Given the description of an element on the screen output the (x, y) to click on. 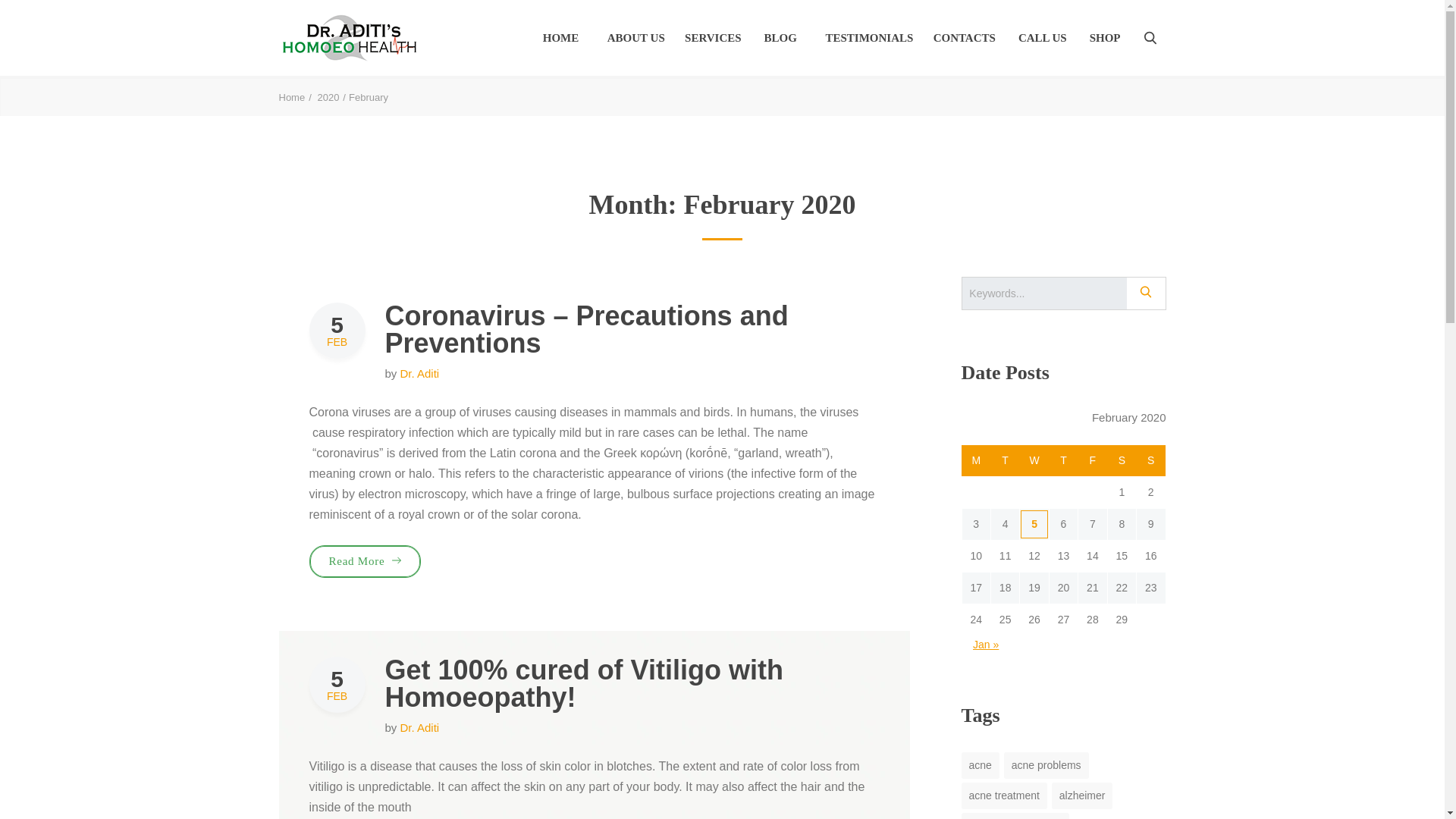
5 (1033, 524)
Saturday (1120, 460)
acne treatment (1003, 795)
CONTACTS (964, 37)
Dr. Aditi (419, 373)
SERVICES (712, 37)
acne (979, 765)
Search (1149, 37)
Request (1248, 610)
Friday (1092, 460)
